Given the description of an element on the screen output the (x, y) to click on. 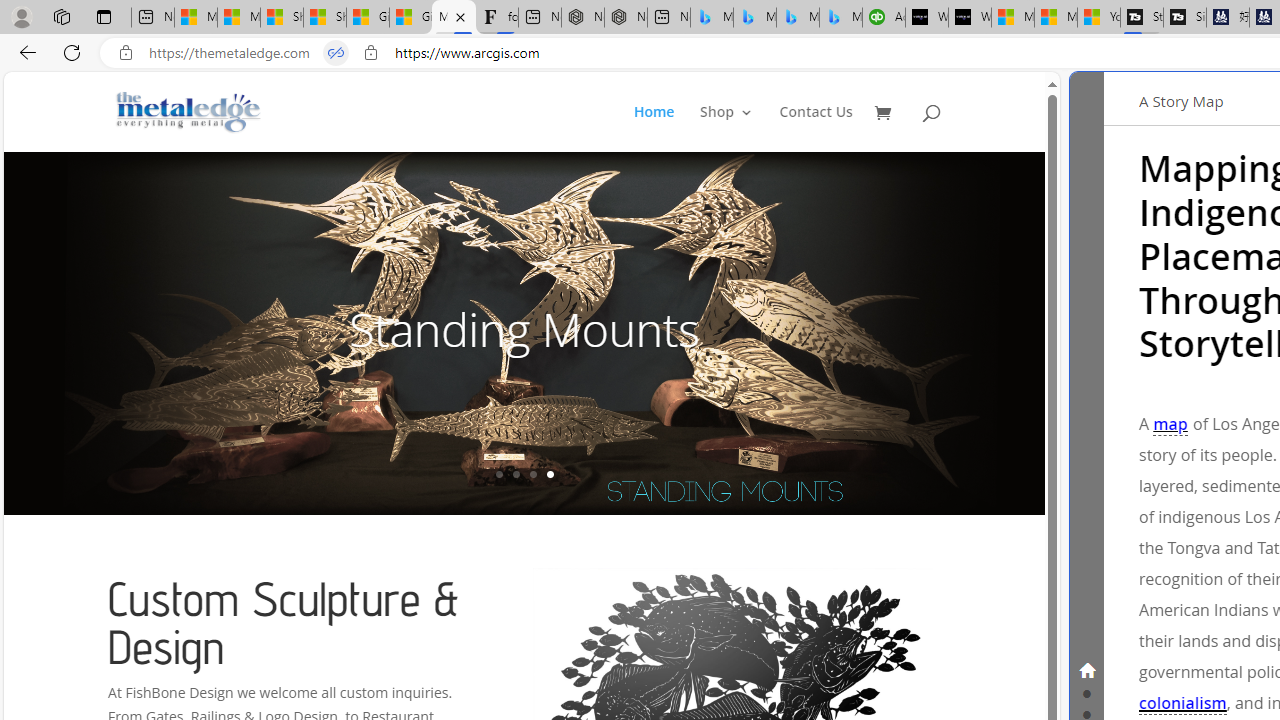
A Story Map (1181, 100)
What's the best AI voice generator? - voice.ai (969, 17)
Microsoft Start Sports (1013, 17)
Tabs in split screen (335, 53)
2 (515, 474)
Metal Fish Sculptures & Metal Designs (189, 111)
Personal Profile (21, 16)
Refresh (72, 52)
Home (653, 128)
Microsoft Bing Travel - Stays in Bangkok, Bangkok, Thailand (754, 17)
Back (24, 52)
Streaming Coverage | T3 (1142, 17)
